Given the description of an element on the screen output the (x, y) to click on. 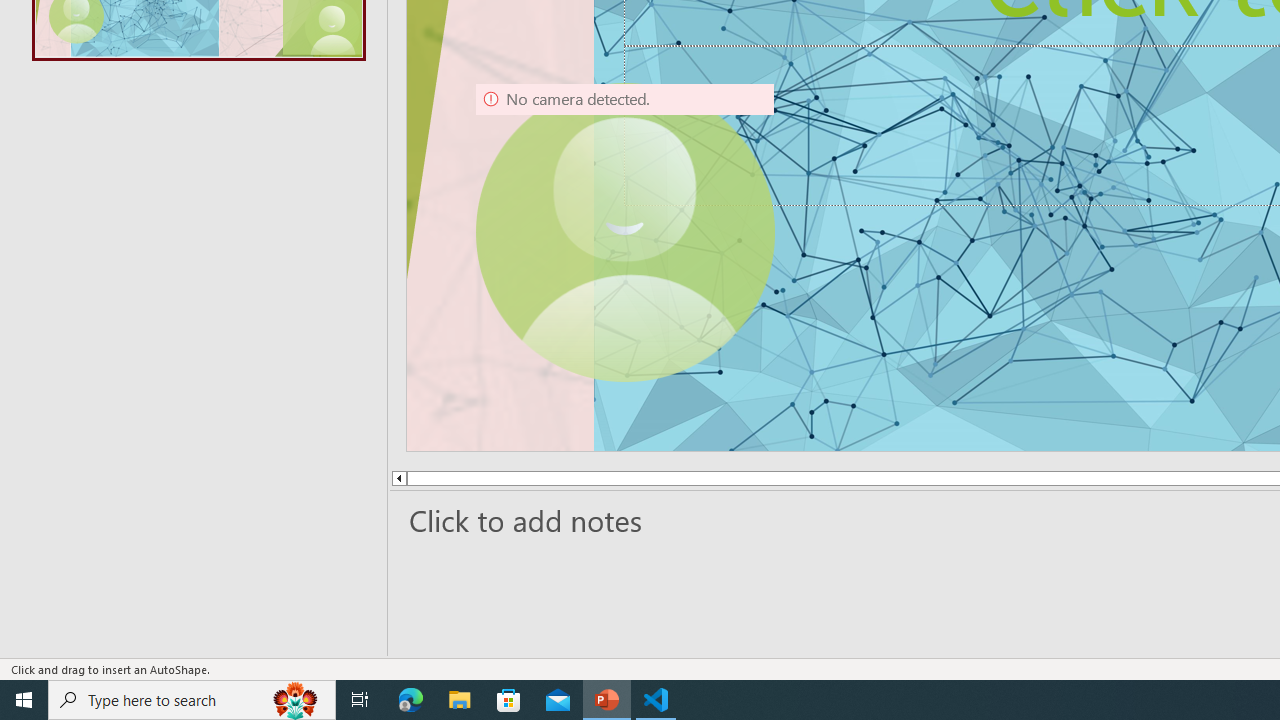
Camera 9, No camera detected. (624, 232)
Microsoft Edge (411, 699)
